Given the description of an element on the screen output the (x, y) to click on. 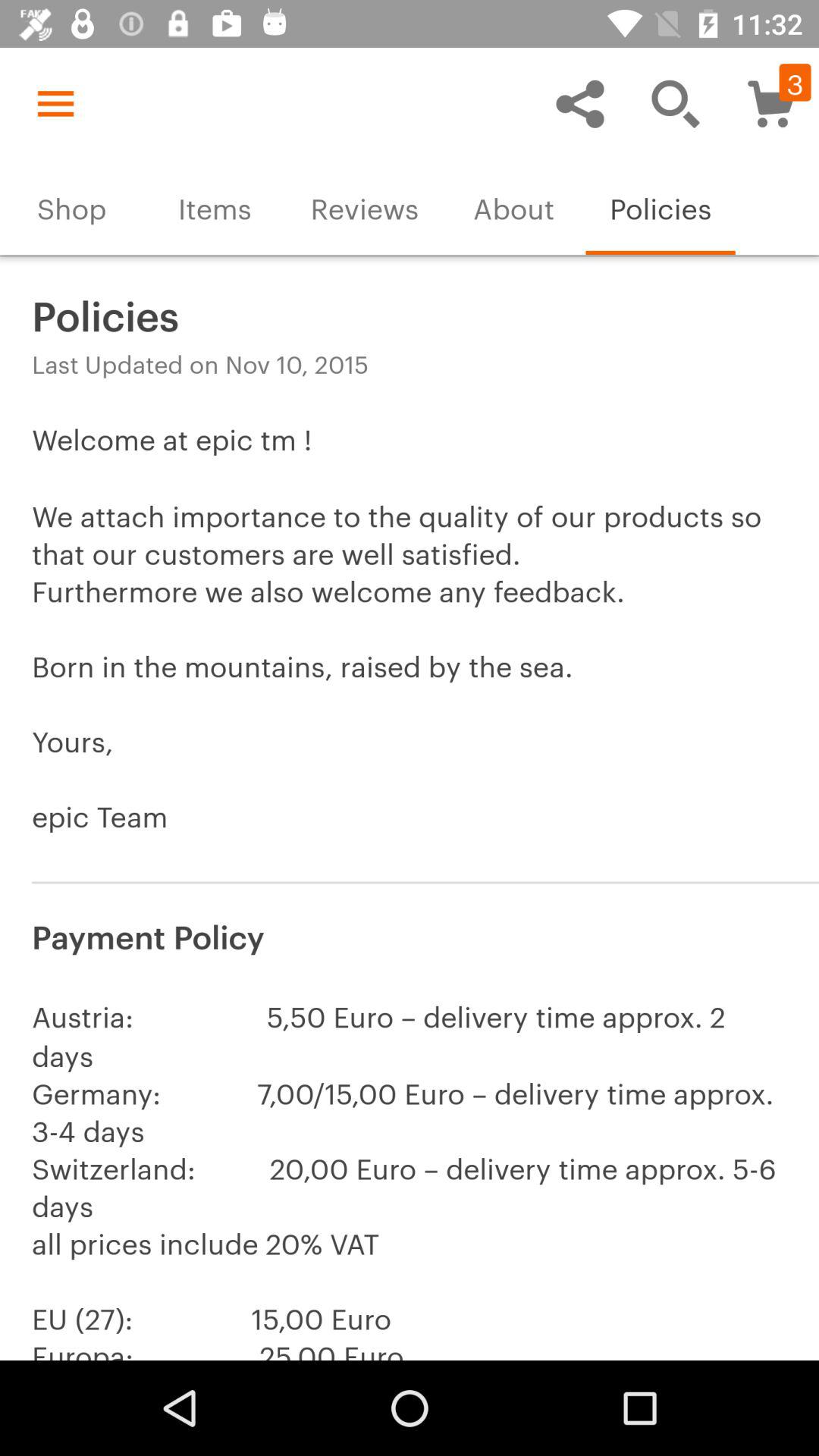
jump to the austria 5 50 (409, 1174)
